Given the description of an element on the screen output the (x, y) to click on. 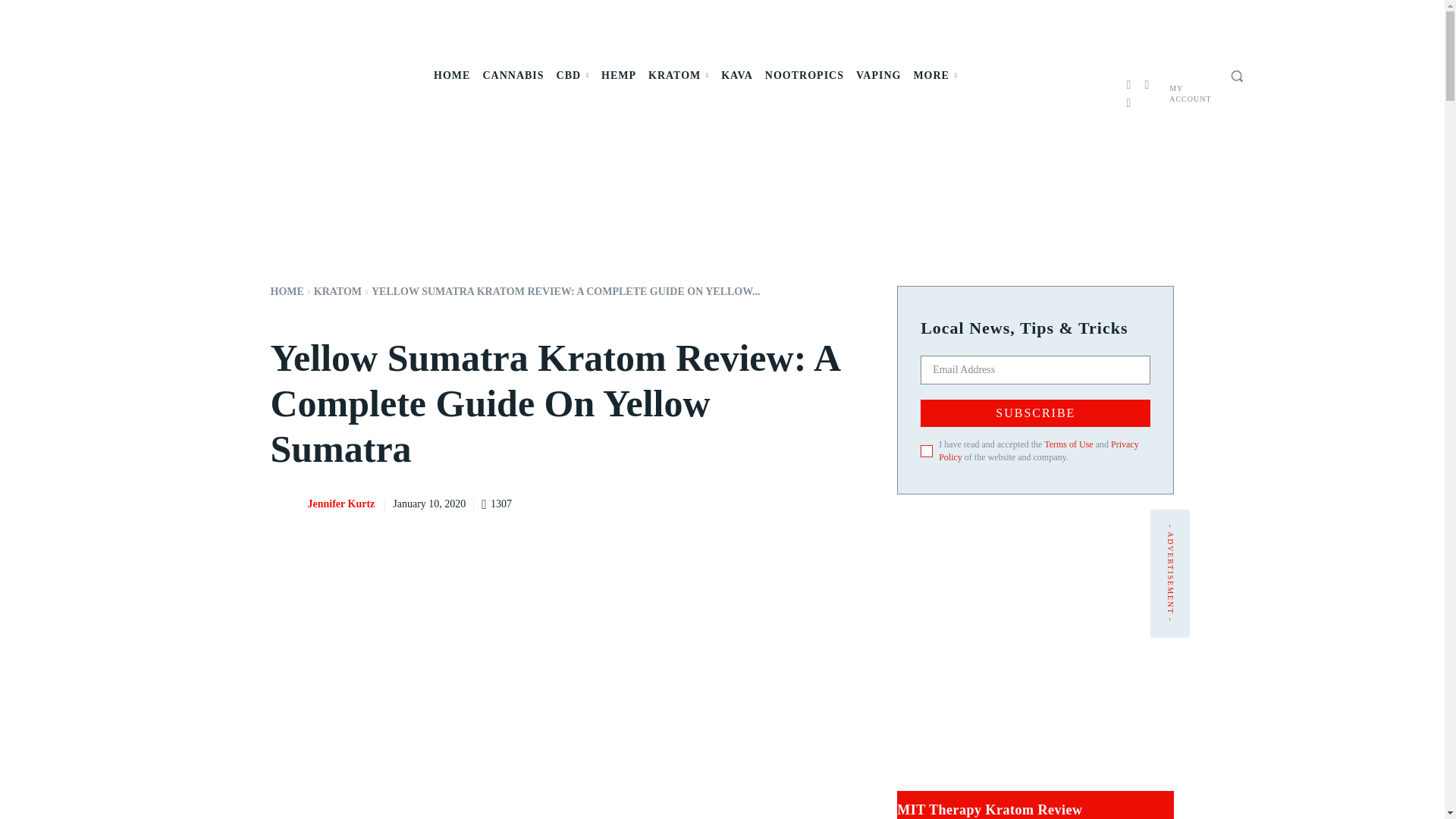
Jennifer Kurtz (286, 503)
View all posts in Kratom (337, 291)
Facebook (1128, 85)
Instagram (1146, 85)
Twitter (1128, 103)
